Given the description of an element on the screen output the (x, y) to click on. 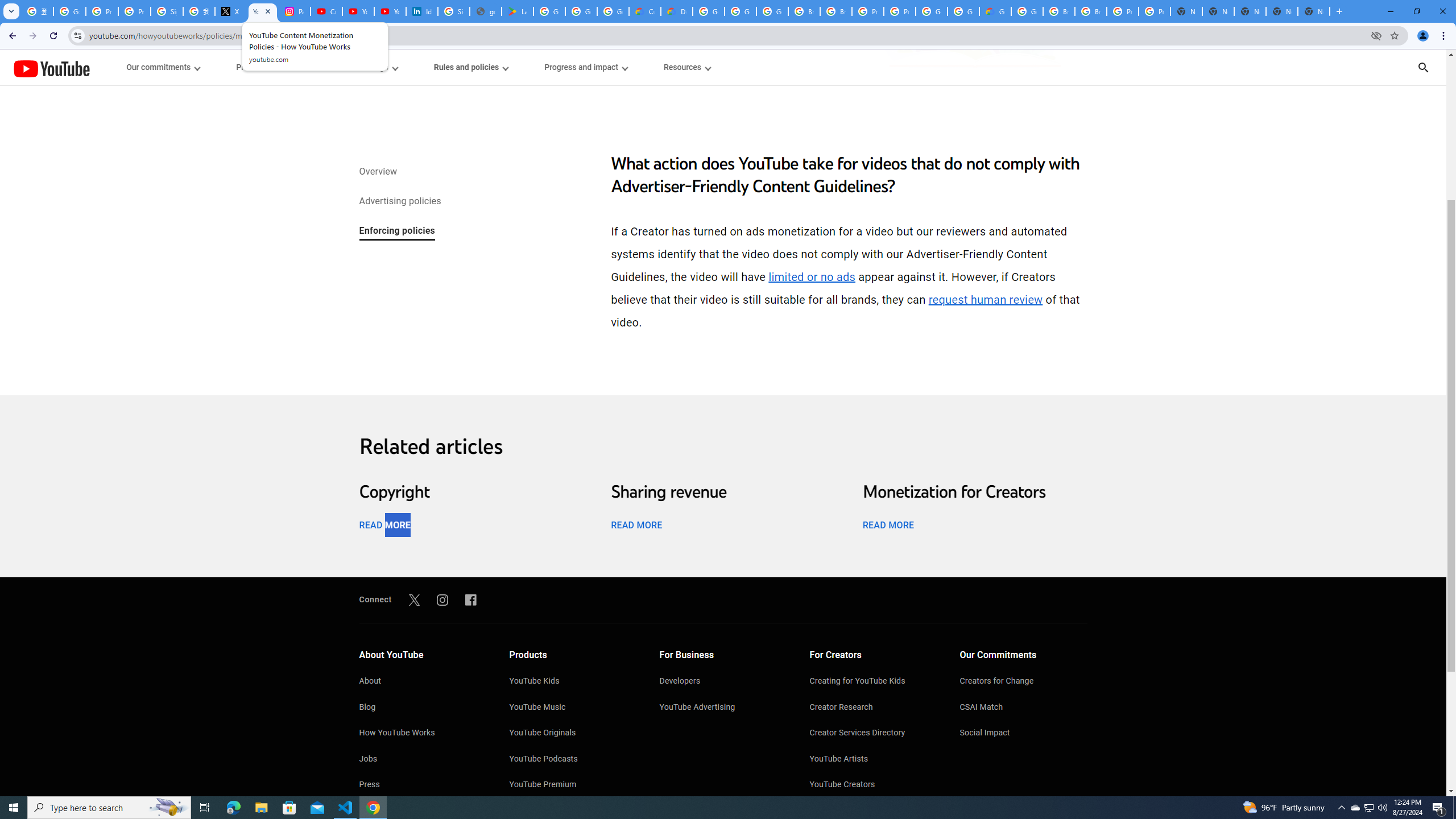
Jobs (422, 759)
Developers (723, 682)
Search (1438, 67)
Customer Care | Google Cloud (644, 11)
google_privacy_policy_en.pdf (485, 11)
Play (723, 469)
Forward (32, 35)
You (1422, 35)
Social Impact (1023, 733)
READ MORE (887, 524)
Product features menupopup (269, 67)
Sign in - Google Accounts (166, 11)
Sign in - Google Accounts (453, 11)
